Given the description of an element on the screen output the (x, y) to click on. 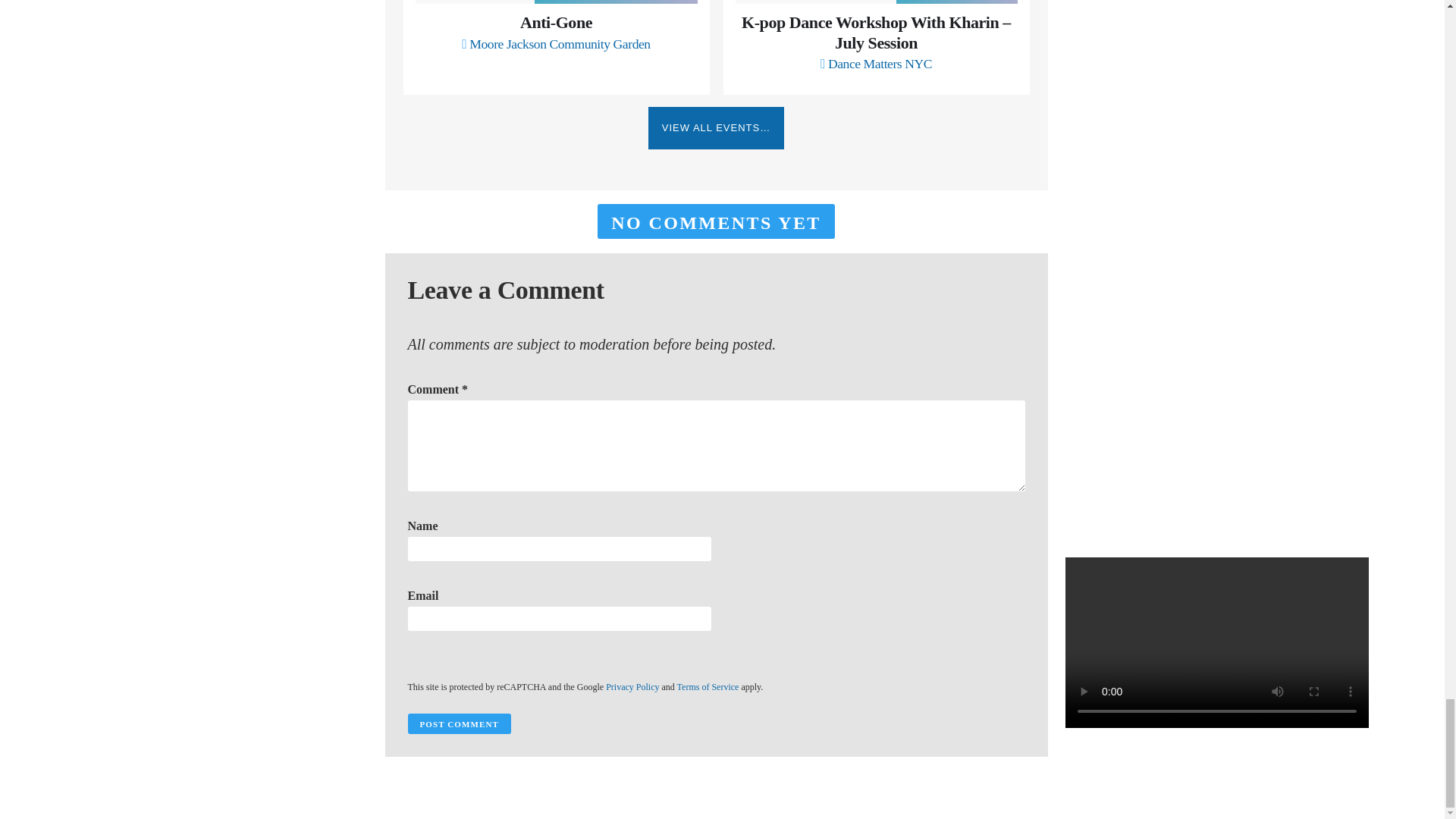
Post Comment (459, 723)
